Given the description of an element on the screen output the (x, y) to click on. 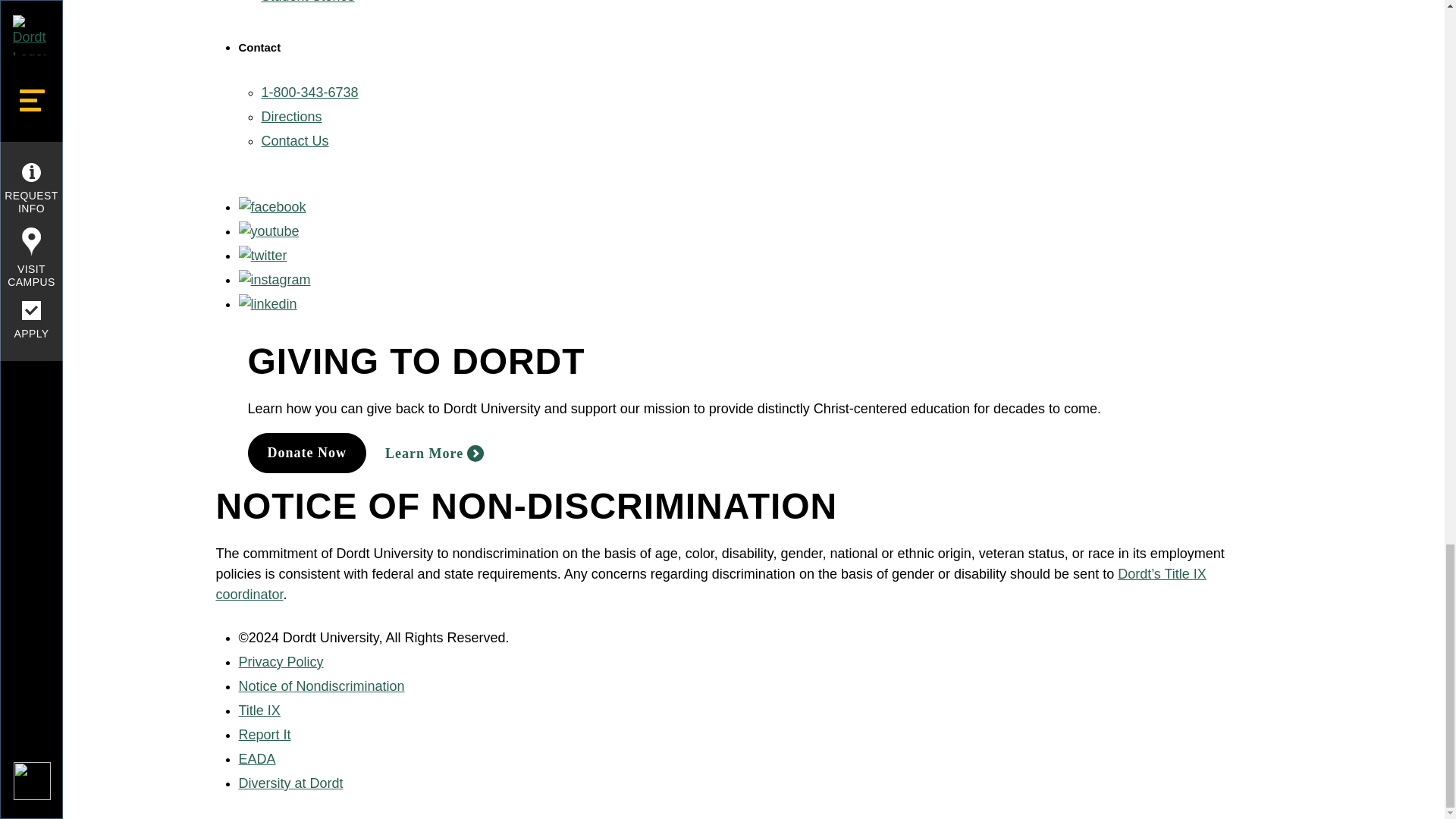
Donate to Dordt University (306, 453)
Learn More About Giving to Dordt (434, 453)
